Given the description of an element on the screen output the (x, y) to click on. 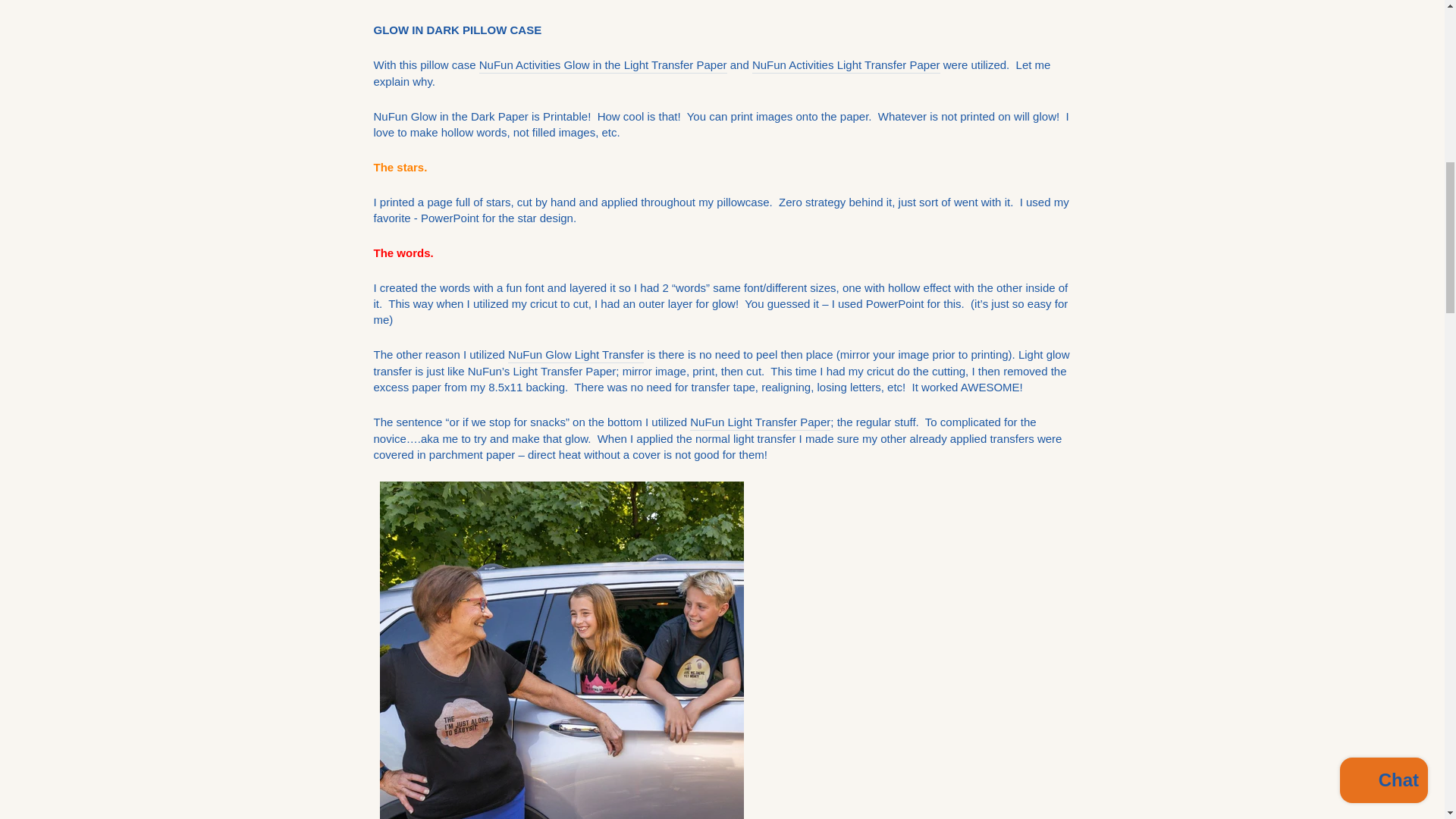
Glow in dark (575, 354)
Glow Transfer Paper (602, 64)
NuFun DIY Light Transfer Paper (759, 422)
Light Transfer Paper (846, 64)
